Given the description of an element on the screen output the (x, y) to click on. 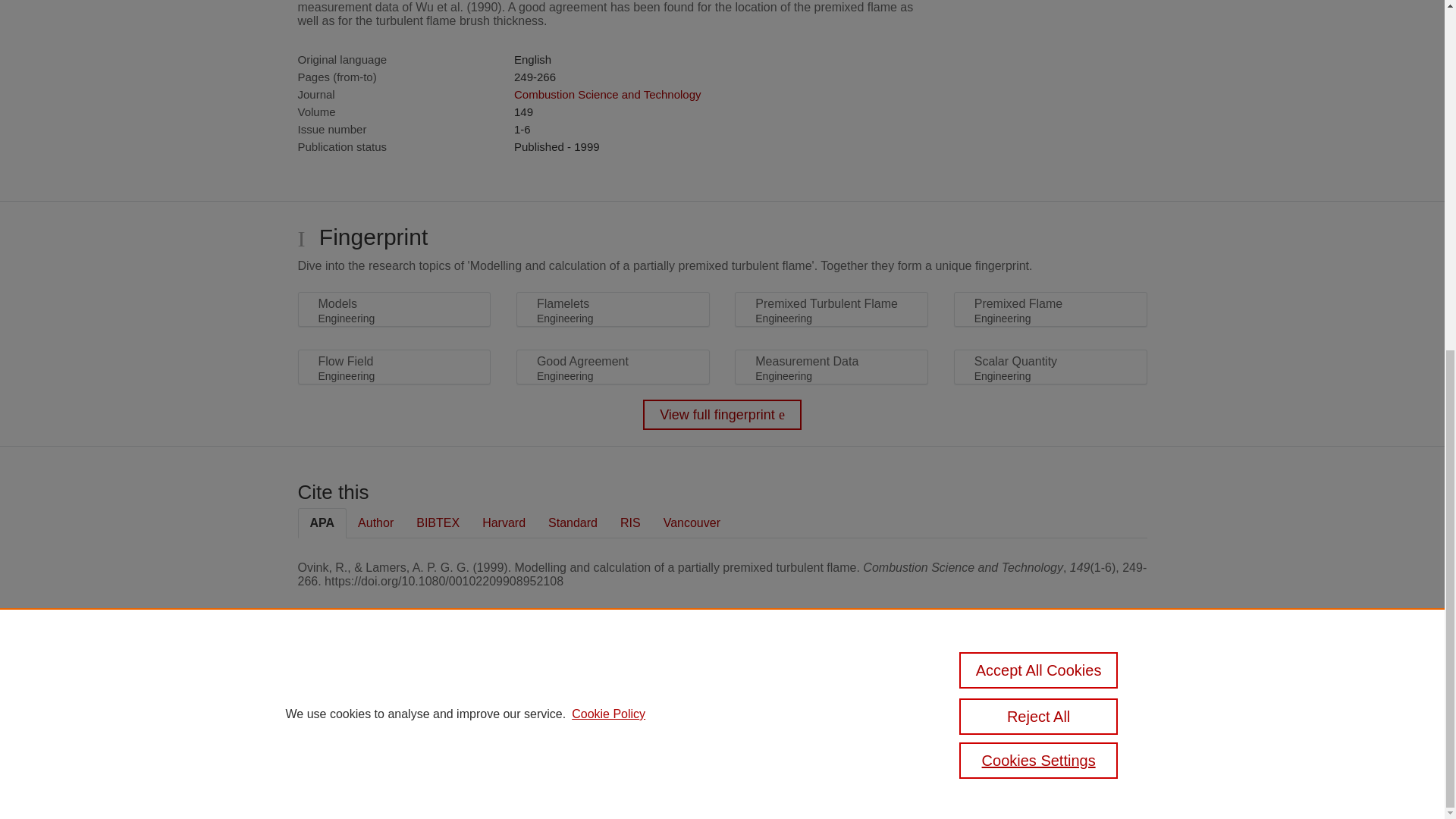
Scopus (394, 686)
View full fingerprint (722, 414)
Pure (362, 686)
Combustion Science and Technology (607, 93)
